Given the description of an element on the screen output the (x, y) to click on. 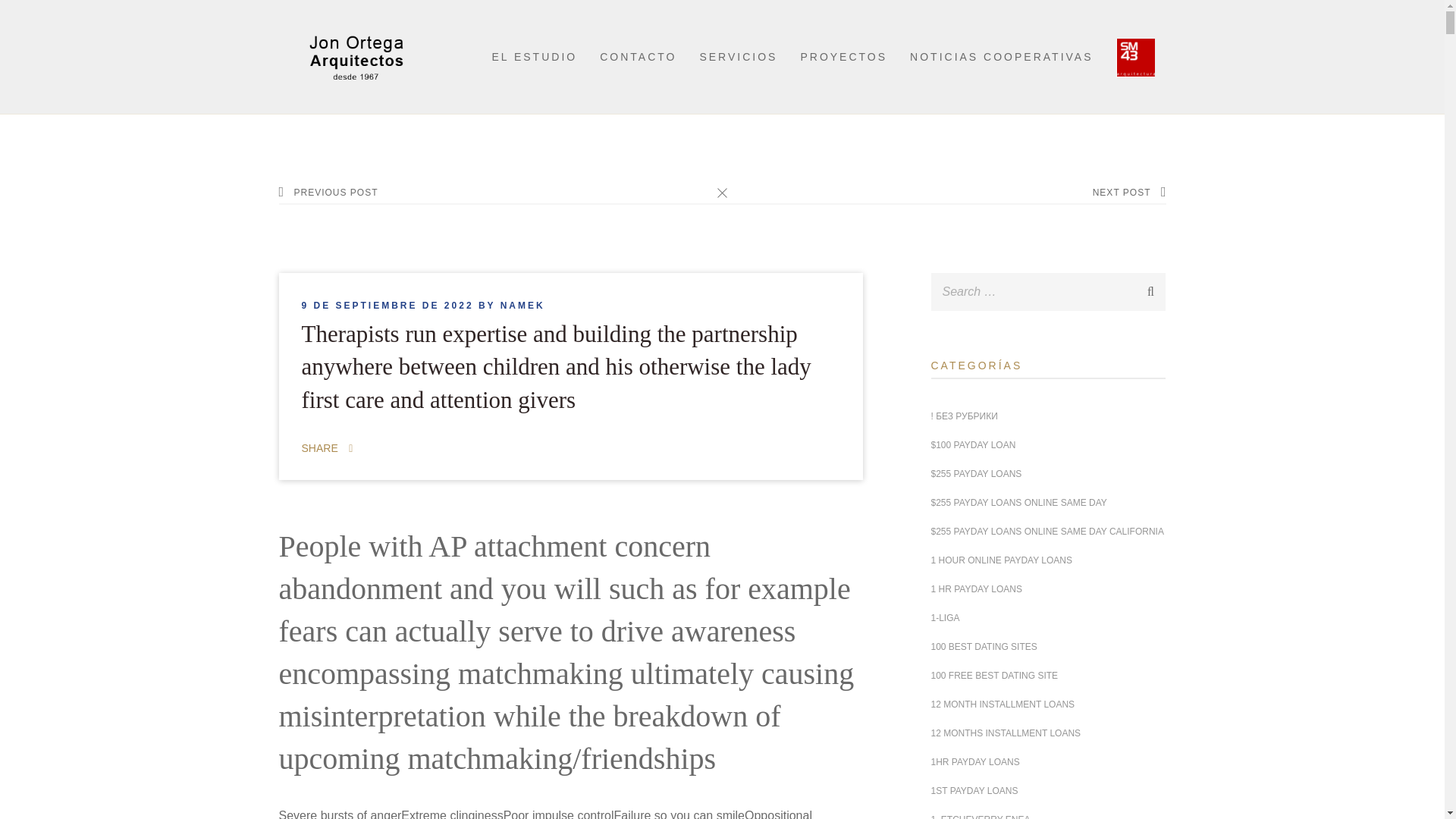
SERVICIOS (737, 56)
EL ESTUDIO (534, 56)
CONTACTO (638, 56)
PROYECTOS (842, 56)
NOTICIAS COOPERATIVAS (1001, 56)
